Given the description of an element on the screen output the (x, y) to click on. 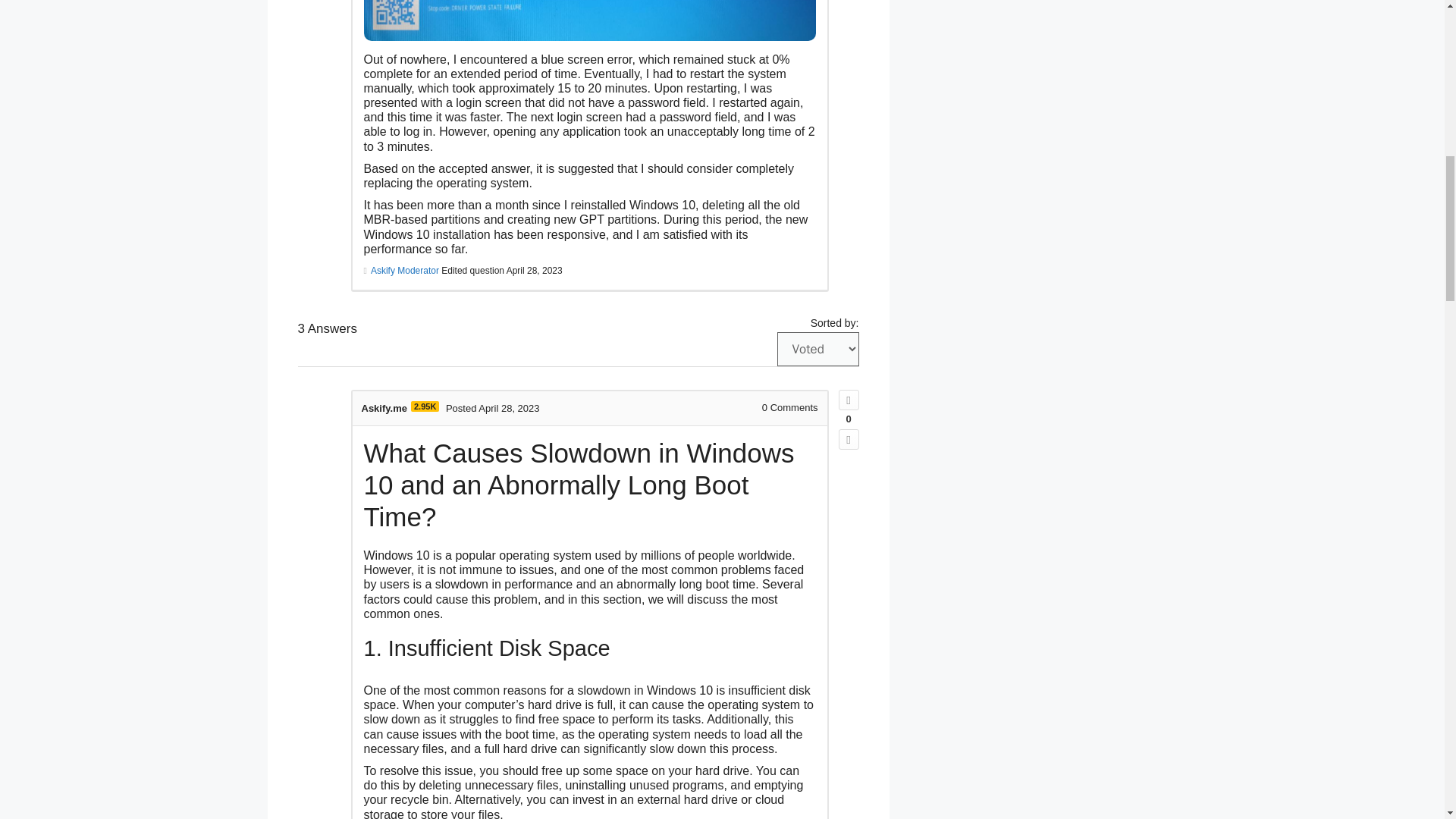
Askify Moderator (405, 270)
Reputation (424, 406)
Askify.me (383, 407)
Down vote this answer (848, 439)
Up vote this answer (848, 399)
2.95K (424, 406)
